Given the description of an element on the screen output the (x, y) to click on. 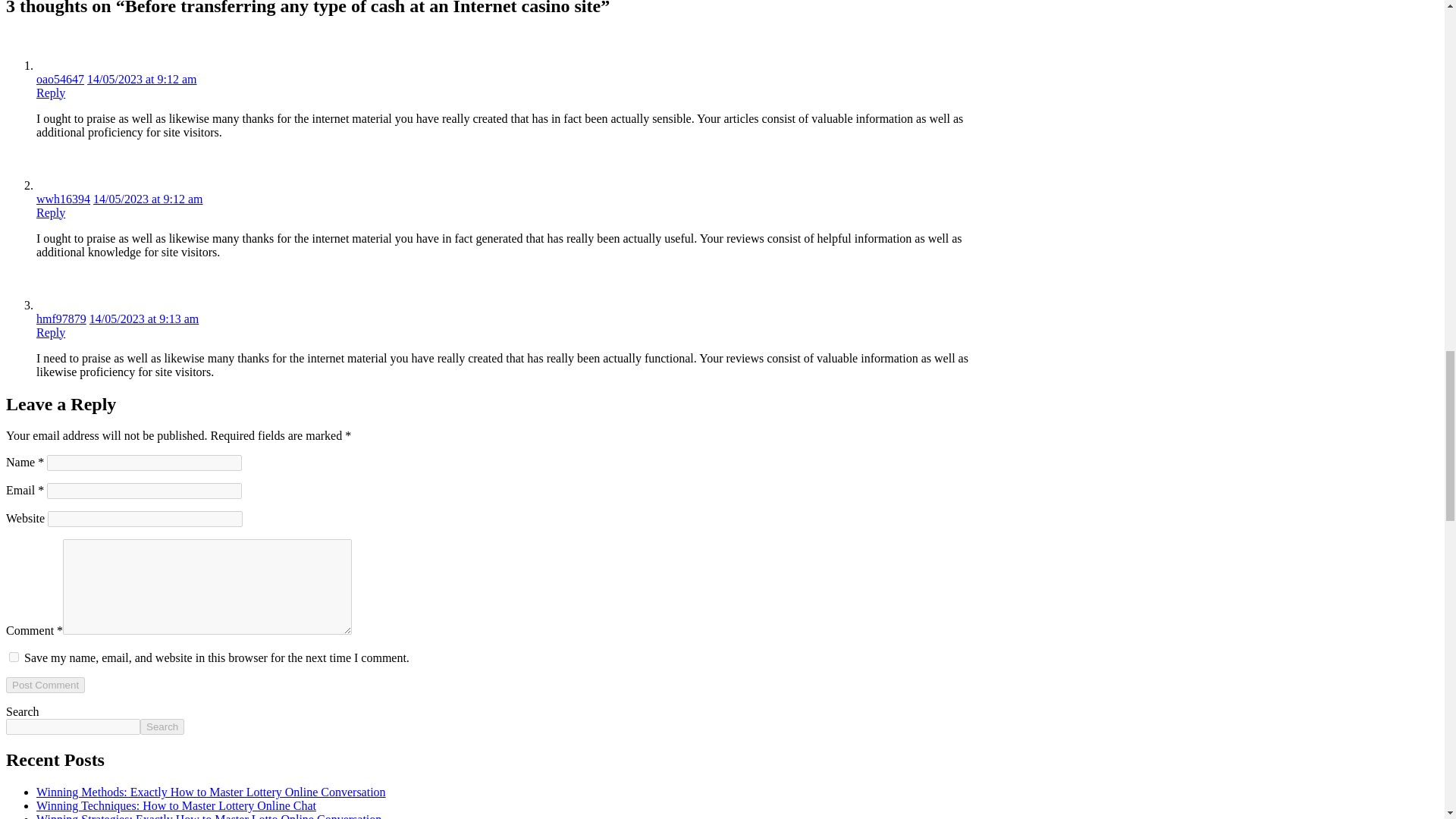
hmf97879 (60, 318)
Winning Techniques: How to Master Lottery Online Chat (175, 805)
Reply (50, 212)
oao54647 (60, 78)
Reply (50, 332)
Post Comment (44, 684)
Post Comment (44, 684)
Search (161, 726)
yes (13, 656)
Reply (50, 92)
wwh16394 (63, 198)
